Given the description of an element on the screen output the (x, y) to click on. 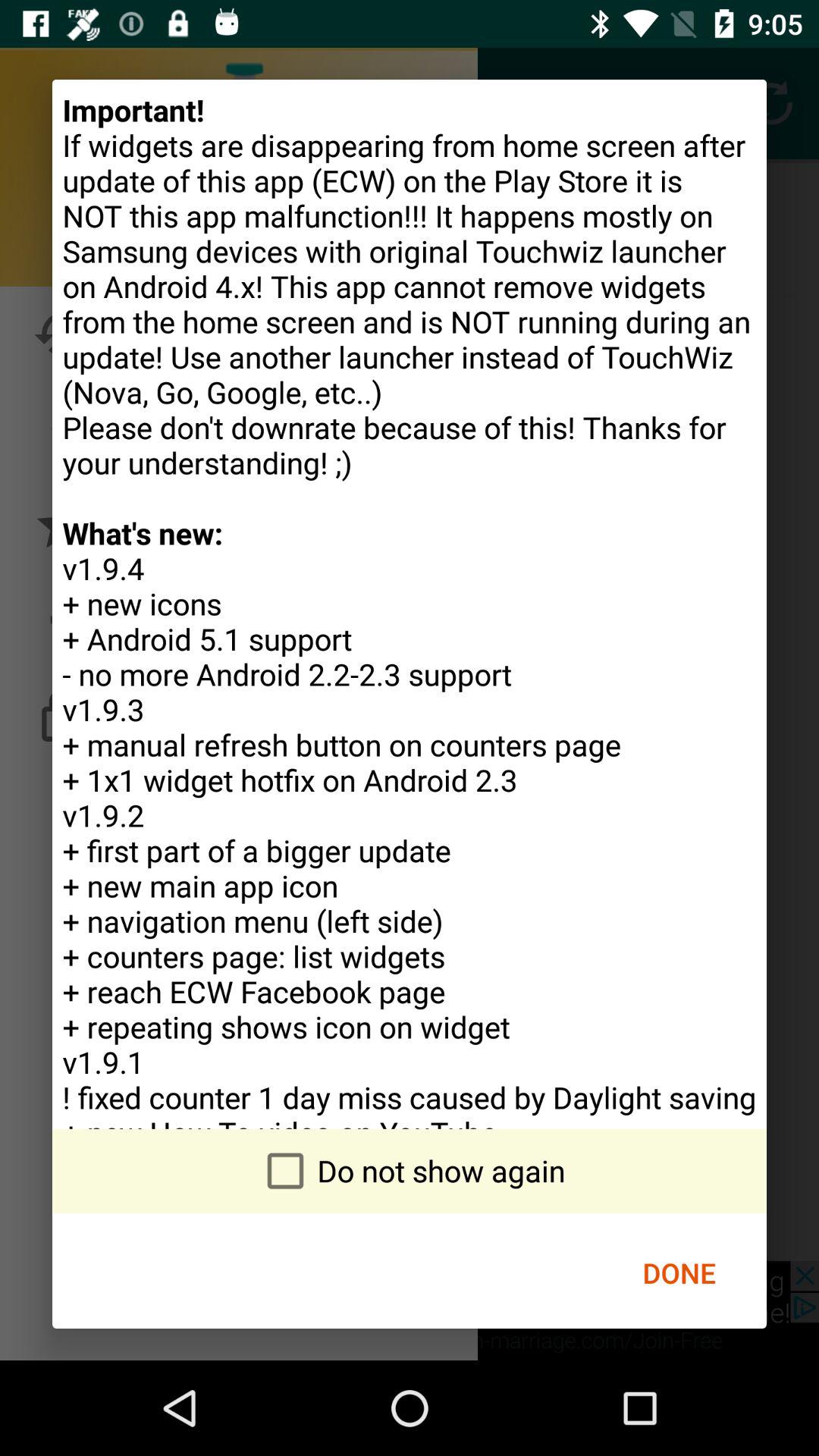
turn on the do not show (409, 1170)
